Given the description of an element on the screen output the (x, y) to click on. 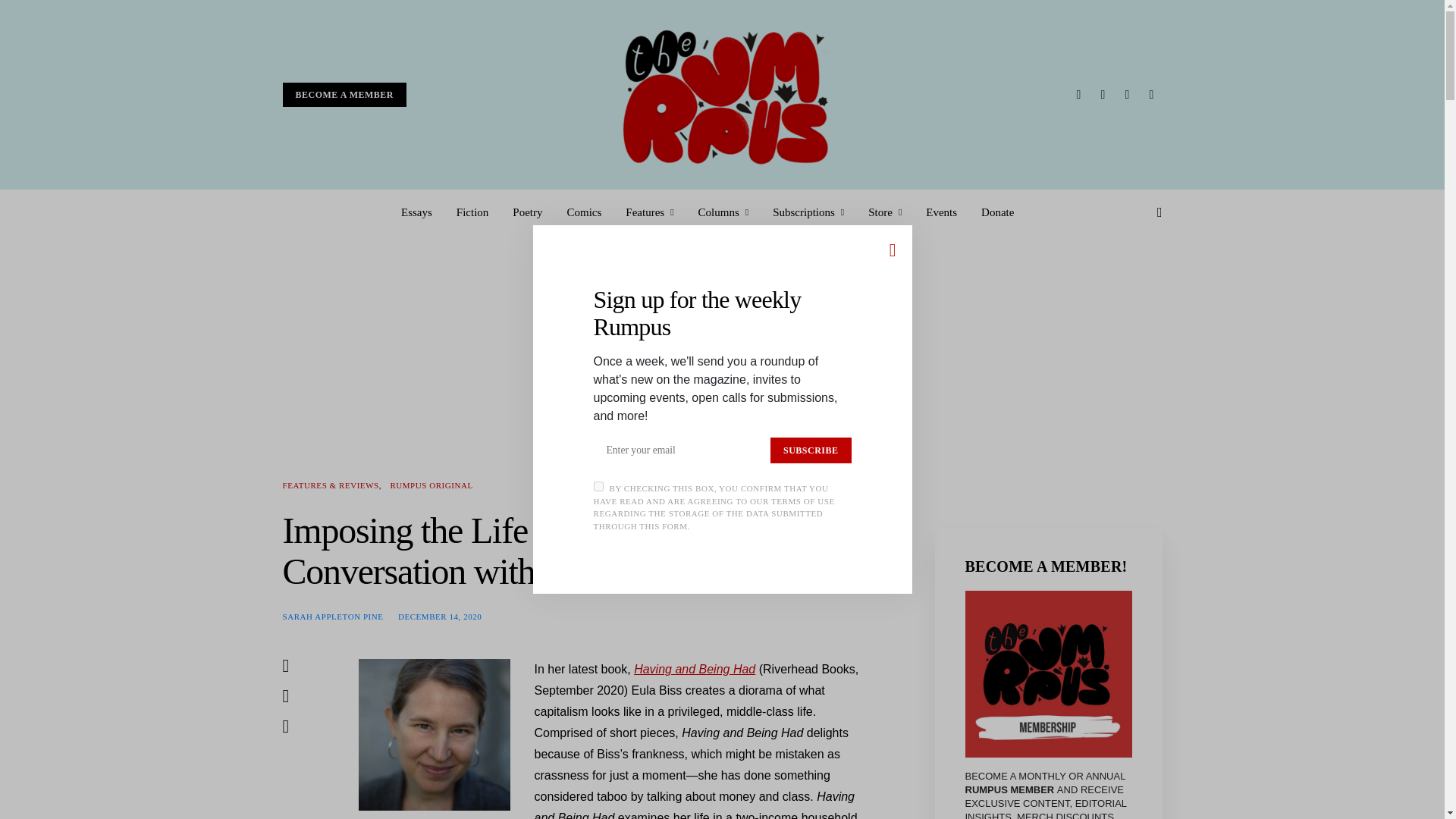
BECOME A MEMBER (344, 94)
on (597, 486)
View all posts by Sarah Appleton Pine (332, 614)
